Given the description of an element on the screen output the (x, y) to click on. 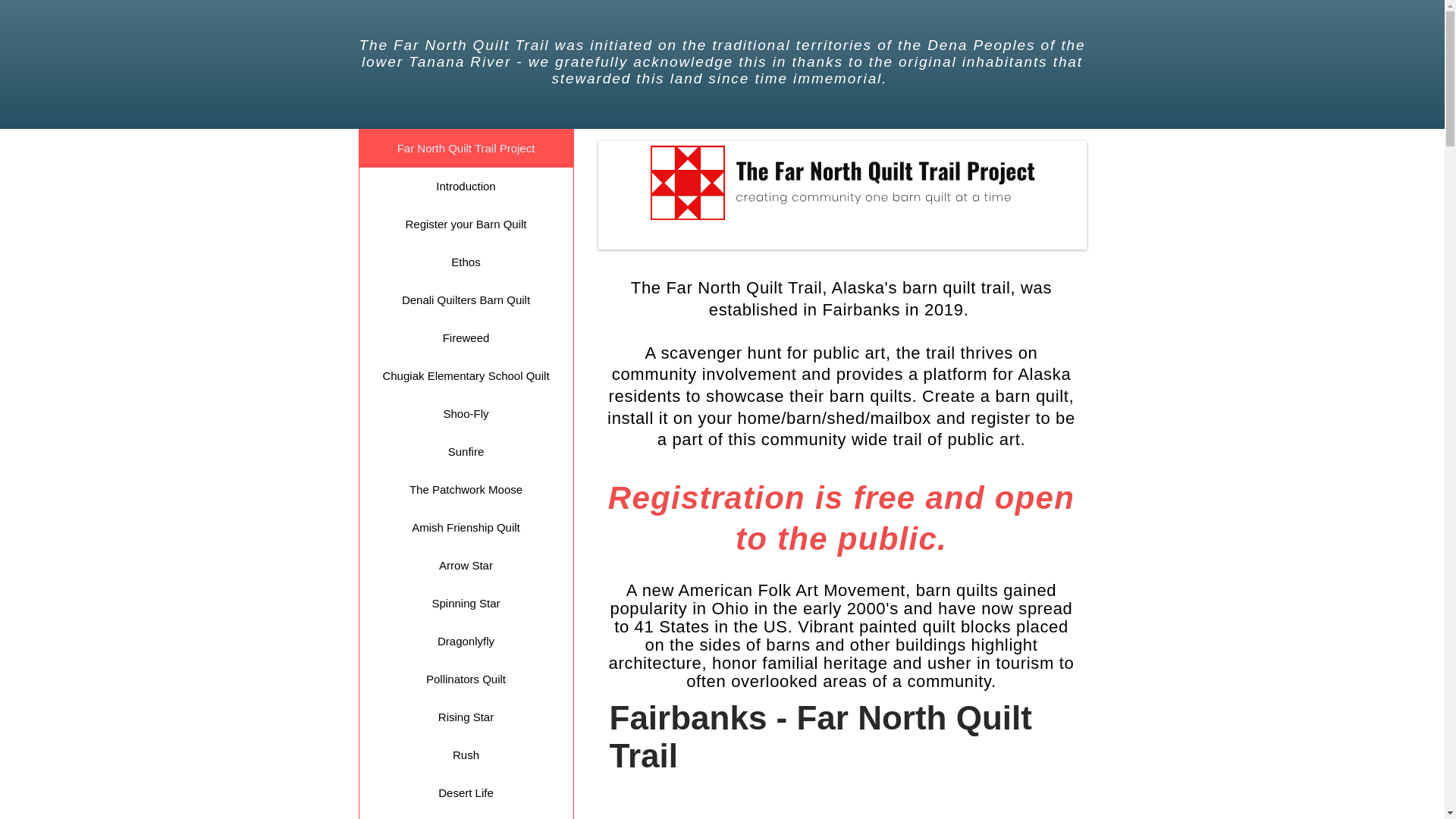
The Patchwork Moose (466, 489)
Rising Star (466, 717)
Rush (466, 754)
Arrow Star (466, 565)
Ethos (466, 262)
Register your Barn Quilt (466, 224)
Spinning Star (466, 603)
Shoo-Fly (466, 413)
Desert Life (466, 792)
Hope Springs Eternal (466, 815)
